Given the description of an element on the screen output the (x, y) to click on. 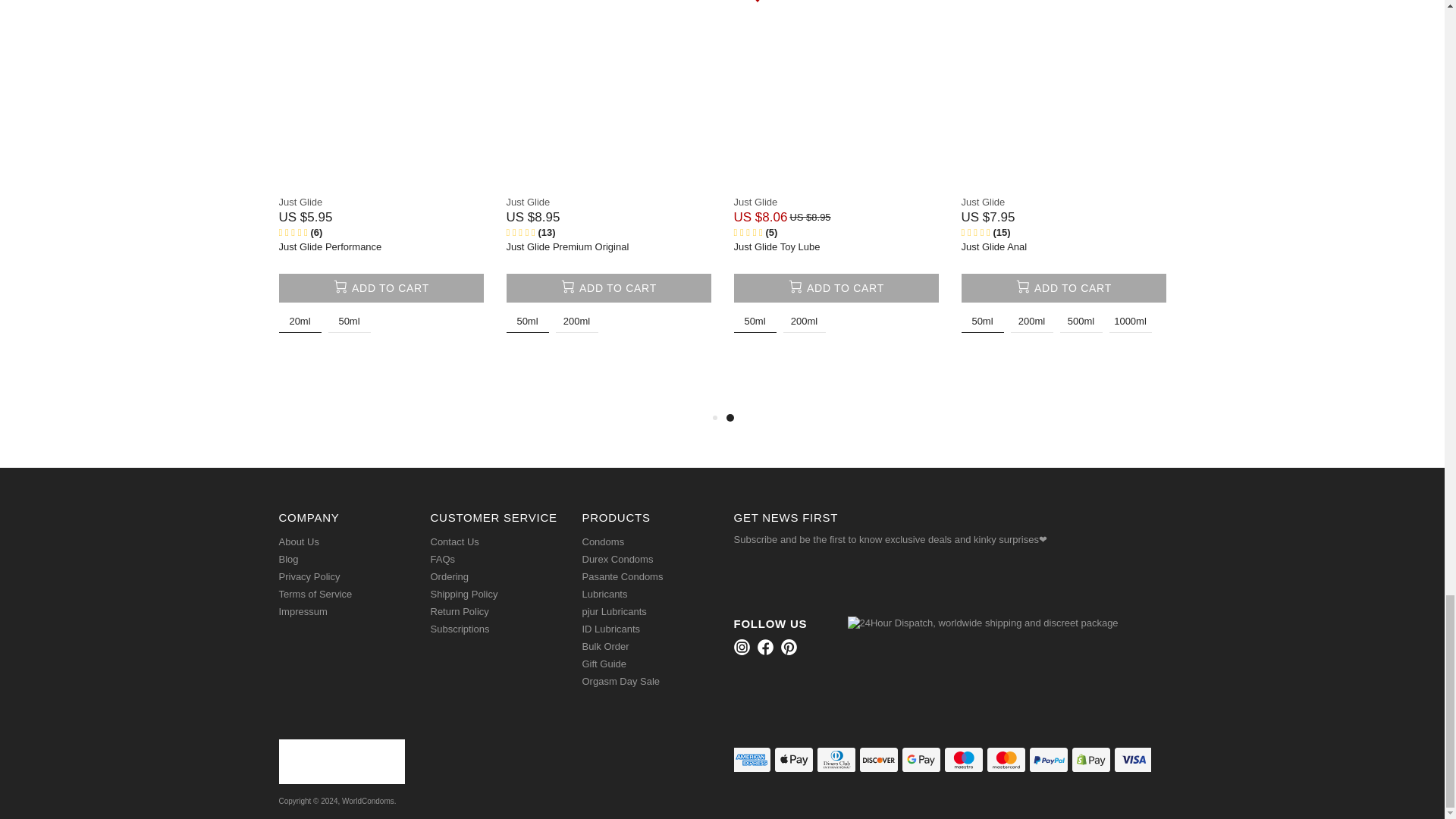
24Hour Dispatch, worldwide shipping and discreet package (982, 622)
